Given the description of an element on the screen output the (x, y) to click on. 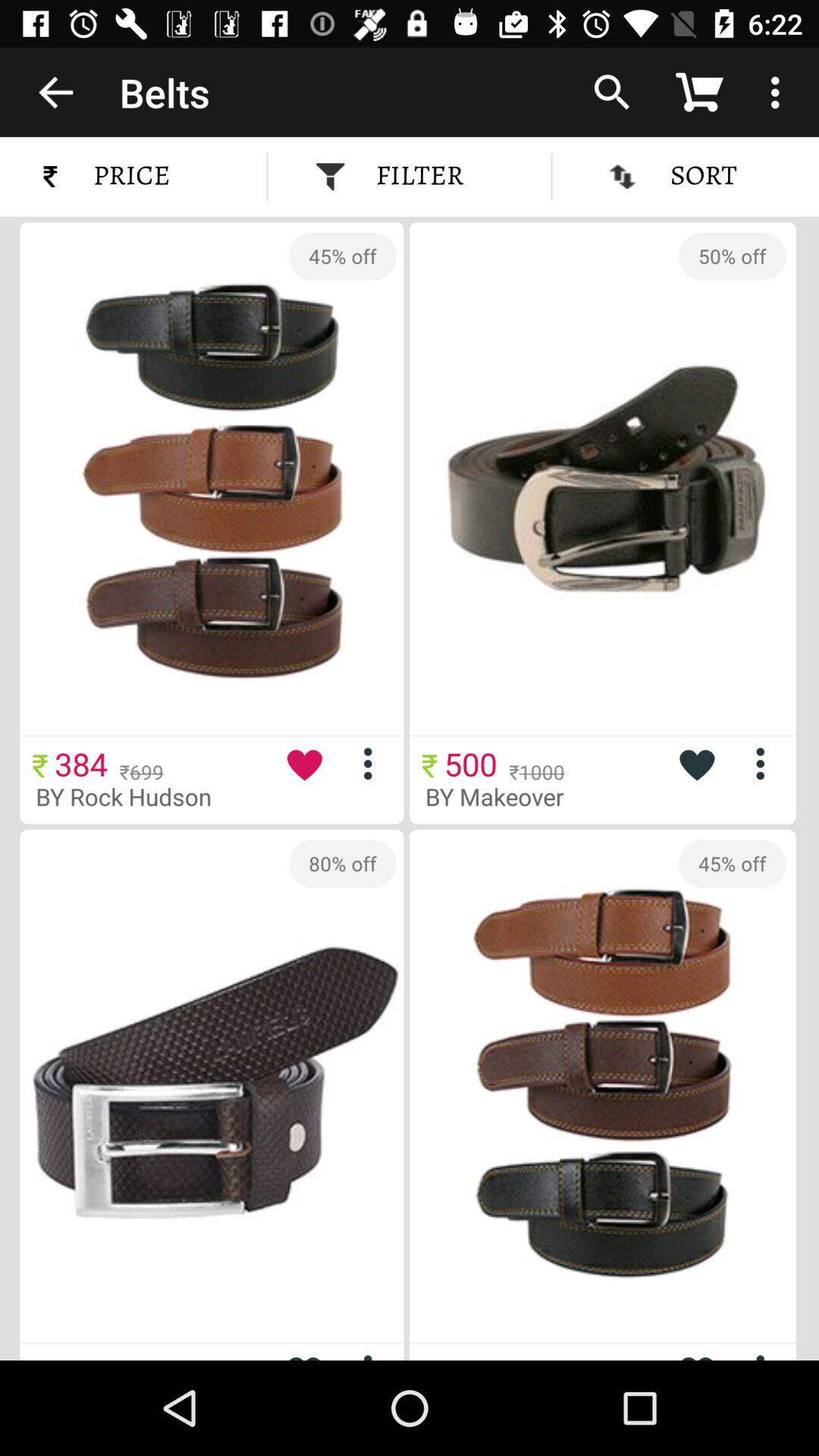
view more info on item (373, 1353)
